Given the description of an element on the screen output the (x, y) to click on. 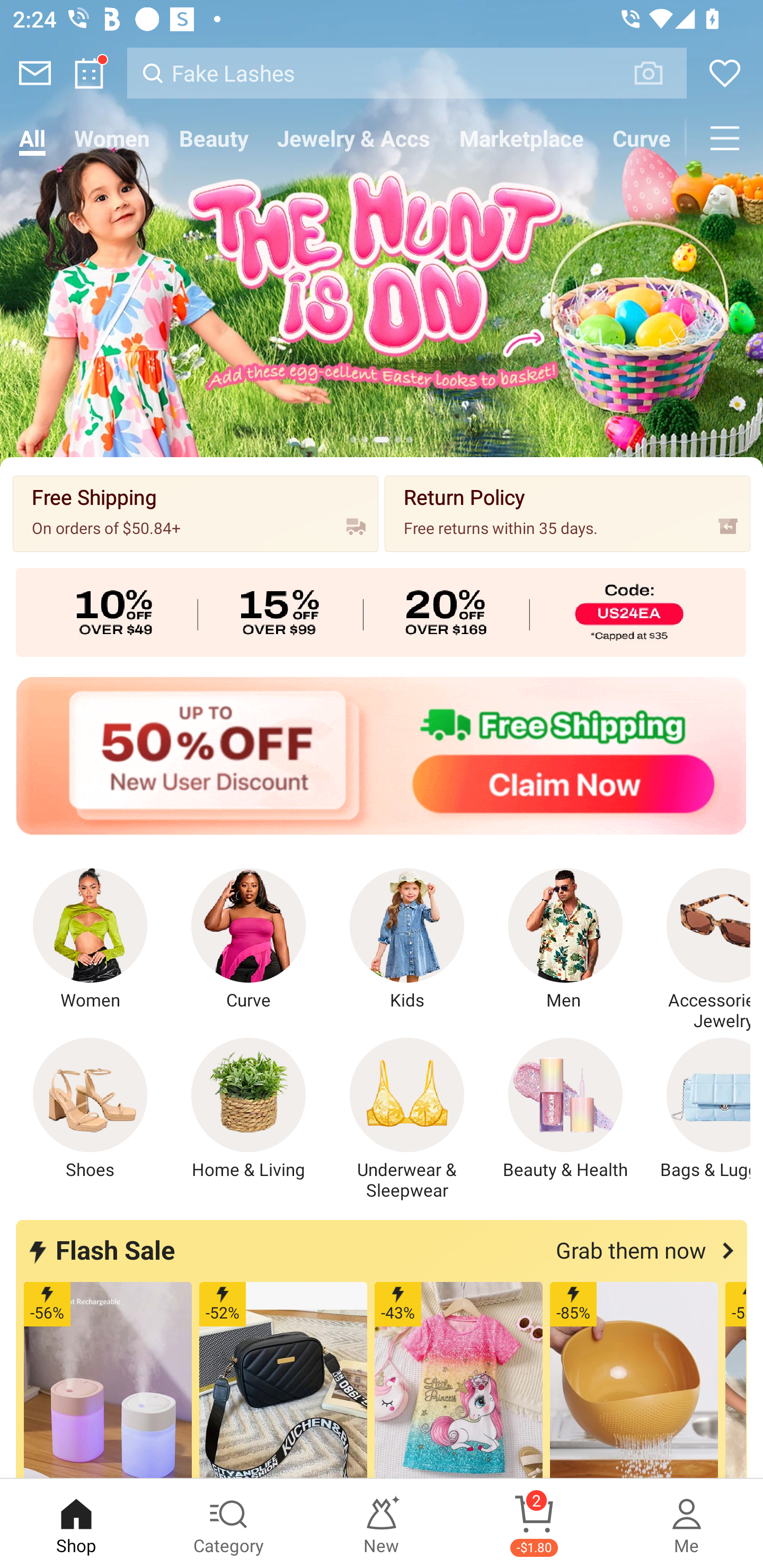
Wishlist (724, 72)
VISUAL SEARCH (657, 72)
All (31, 137)
Women (111, 137)
Beauty (213, 137)
Jewelry & Accs (353, 137)
Marketplace (521, 137)
Curve (641, 137)
Free Shipping On orders of $50.84+ (195, 513)
Return Policy Free returns within 35 days. (567, 513)
Women (89, 939)
Curve (248, 939)
Kids (406, 939)
Men  (565, 939)
Accessories & Jewelry (698, 949)
Shoes (89, 1109)
Home & Living (248, 1109)
Underwear & Sleepwear (406, 1119)
Beauty & Health (565, 1109)
Bags & Luggage (698, 1109)
Category (228, 1523)
New (381, 1523)
Cart 2 -$1.80 (533, 1523)
Me (686, 1523)
